Given the description of an element on the screen output the (x, y) to click on. 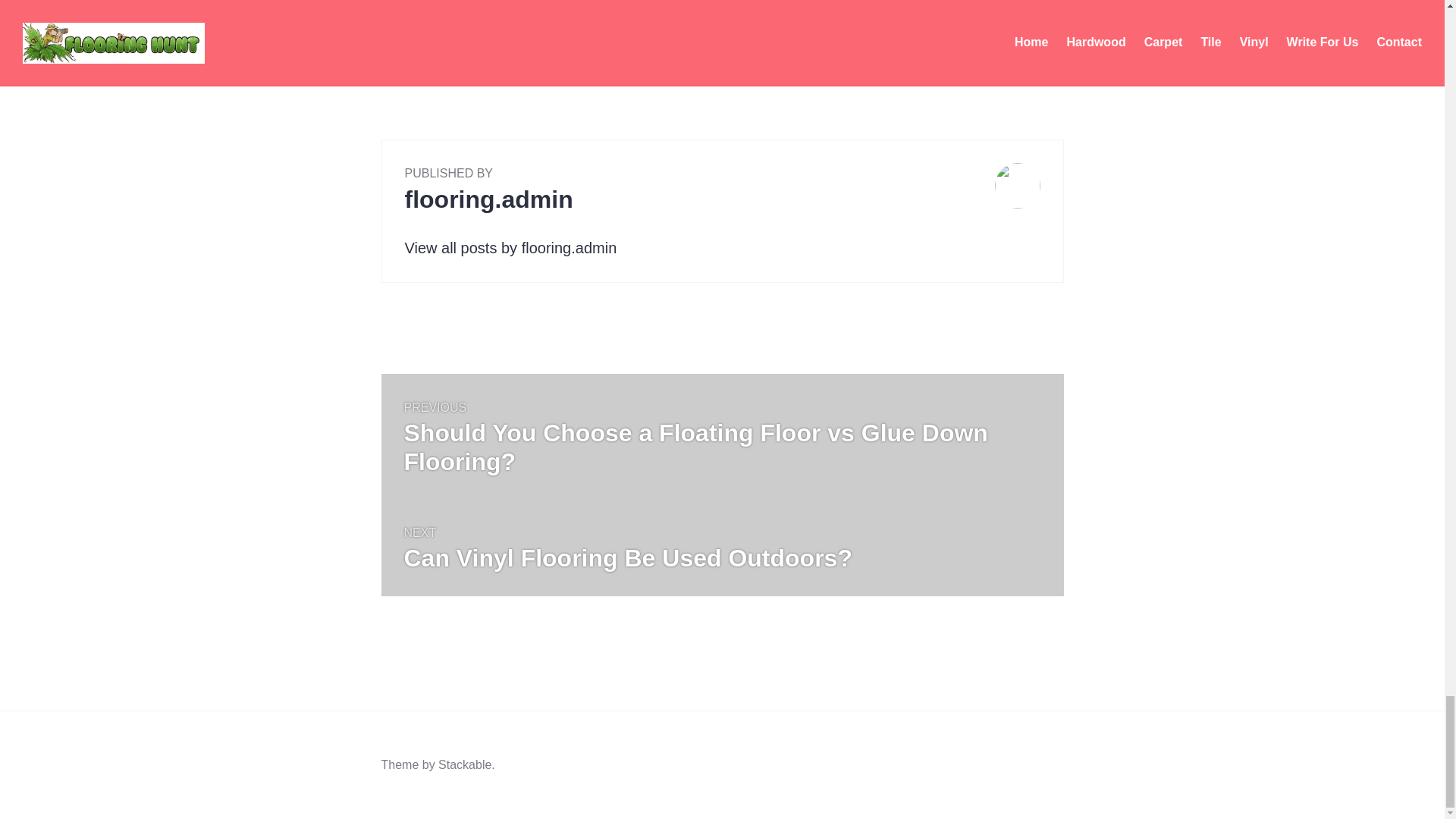
Stackable (465, 764)
December 1, 2022 (430, 35)
View all posts by flooring.admin (510, 247)
